Given the description of an element on the screen output the (x, y) to click on. 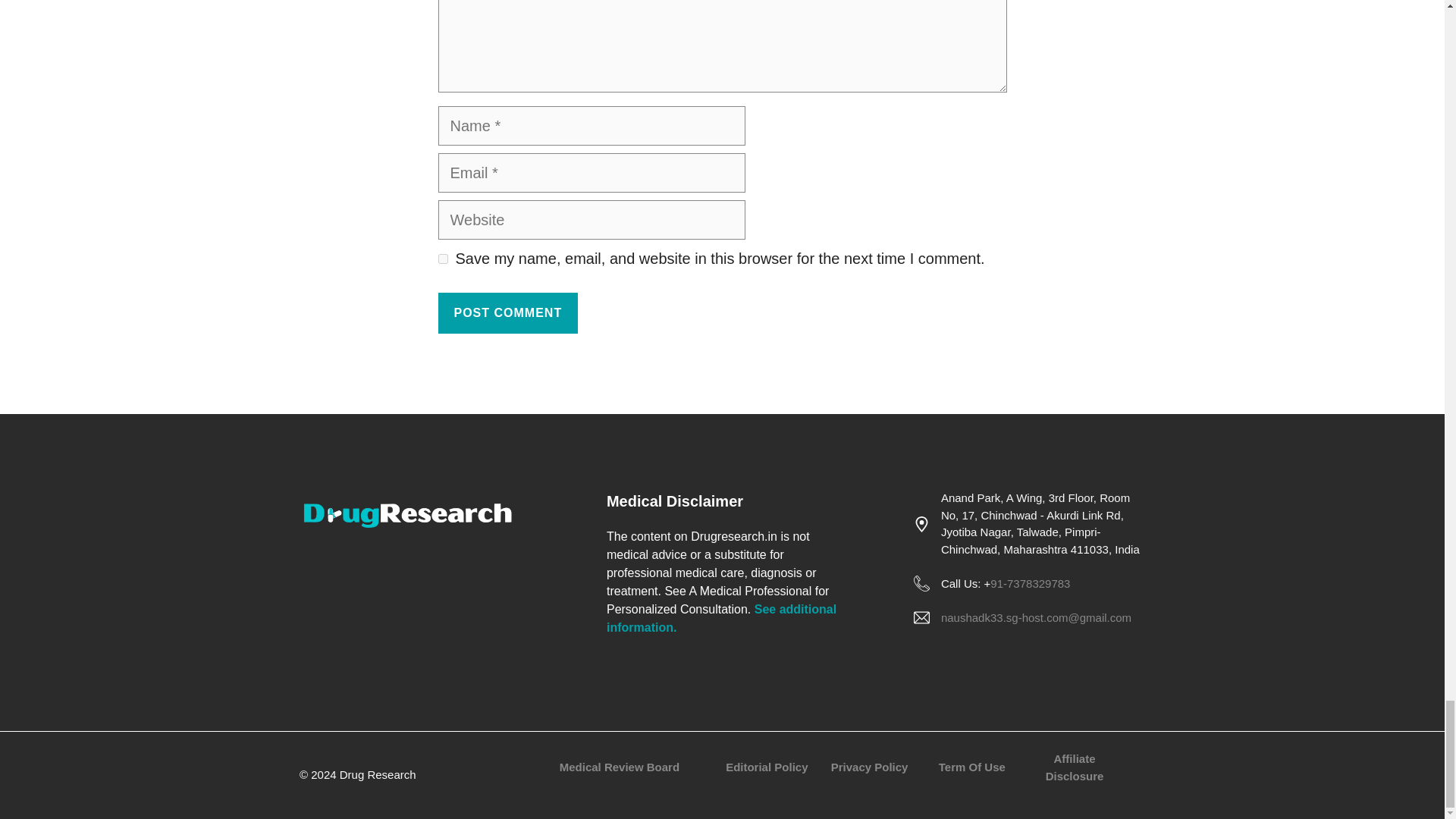
yes (443, 258)
Editorial Policy (766, 766)
Affiliate Disclosure (1074, 767)
Term Of Use (972, 766)
Post Comment (508, 312)
Post Comment (508, 312)
91-7378329783 (1030, 583)
Privacy Policy (869, 766)
See additional information. (721, 617)
Medical Review Board (619, 766)
